Given the description of an element on the screen output the (x, y) to click on. 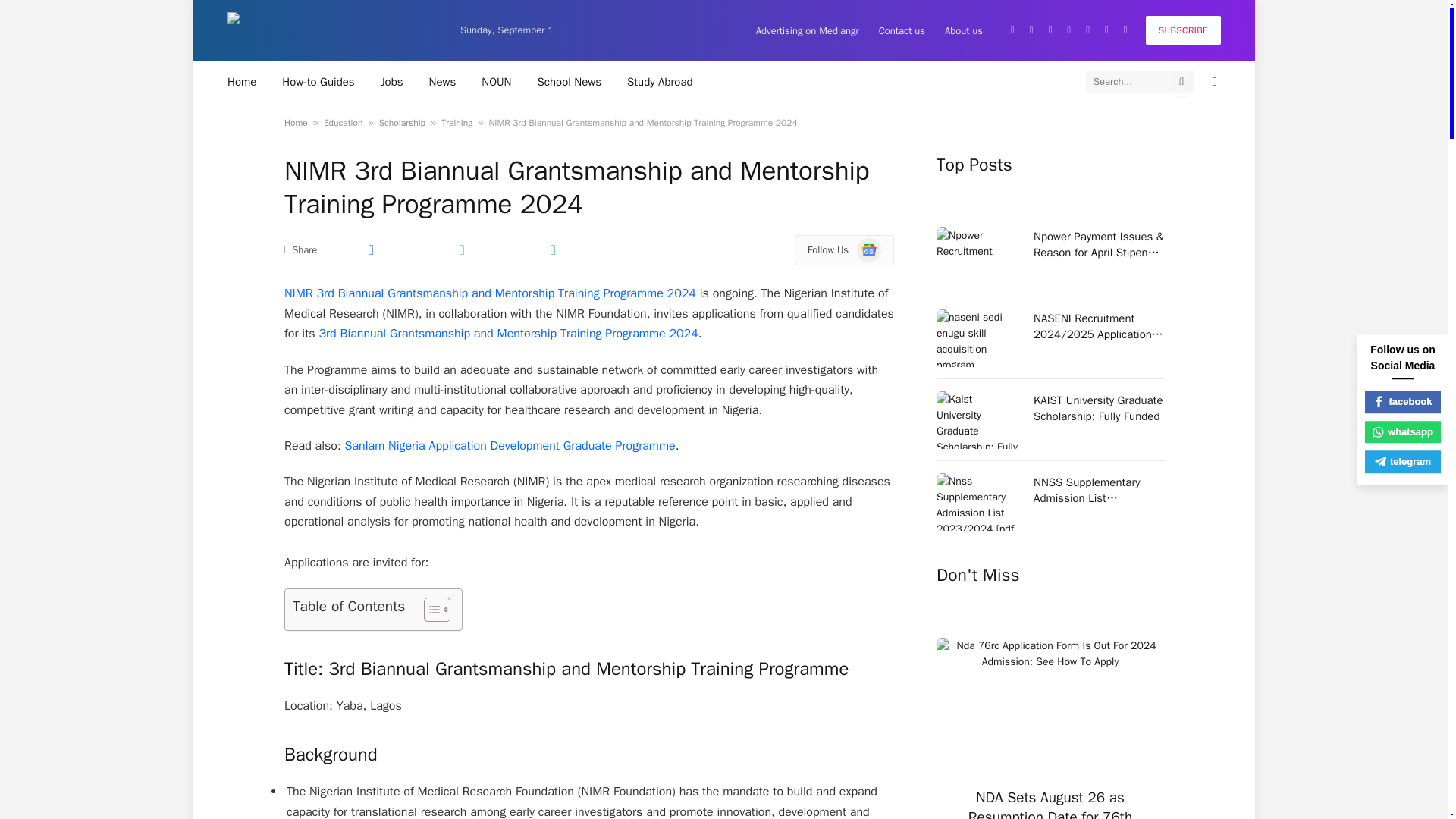
Share on Facebook (370, 248)
Hot Nigerian Jobs Today (392, 81)
Mediangr (330, 30)
Share on WhatsApp (552, 248)
Switch to Dark Design - easier on eyes. (1213, 81)
